Given the description of an element on the screen output the (x, y) to click on. 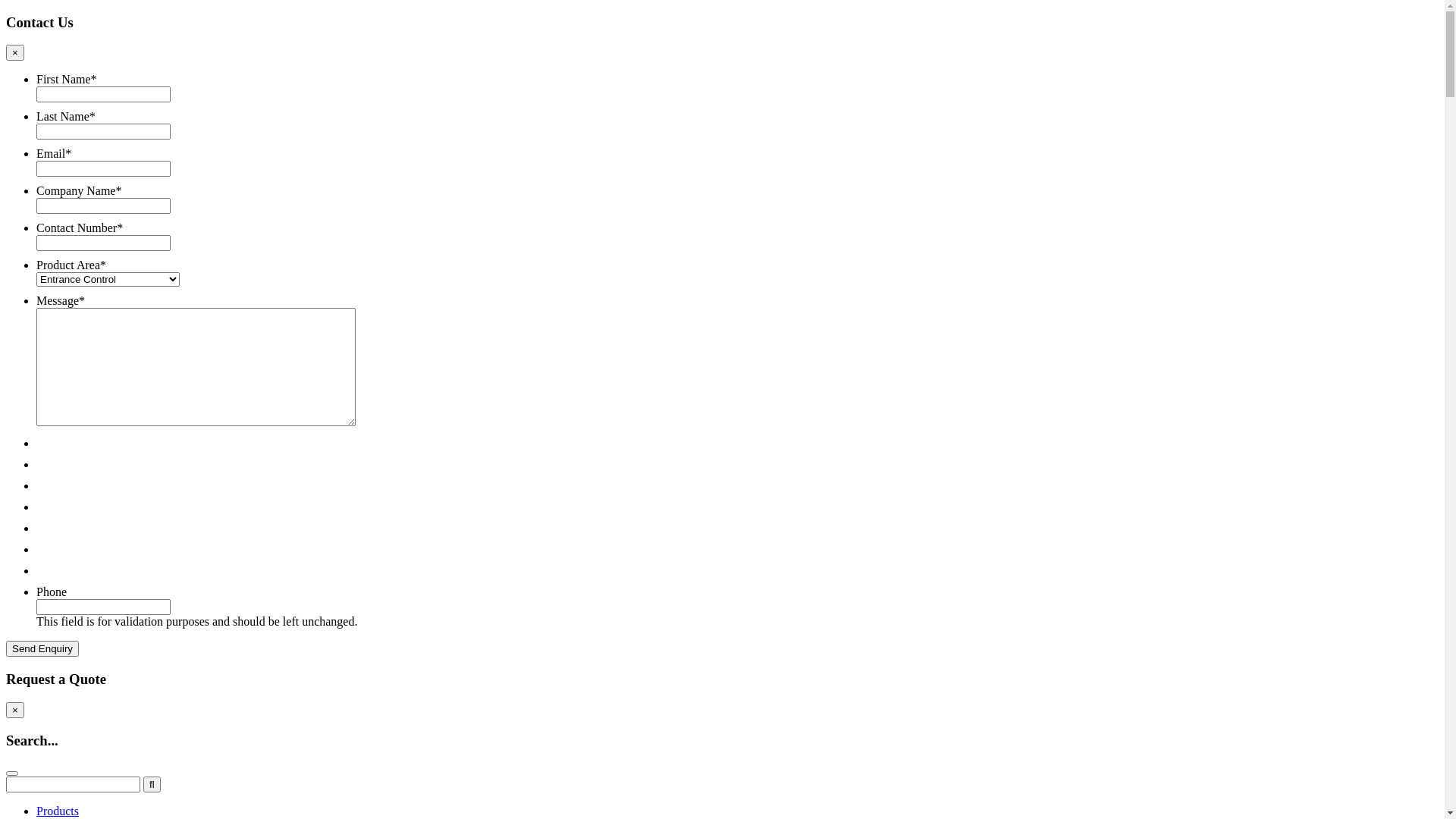
Products Element type: text (57, 810)
Send Enquiry Element type: text (42, 648)
